Given the description of an element on the screen output the (x, y) to click on. 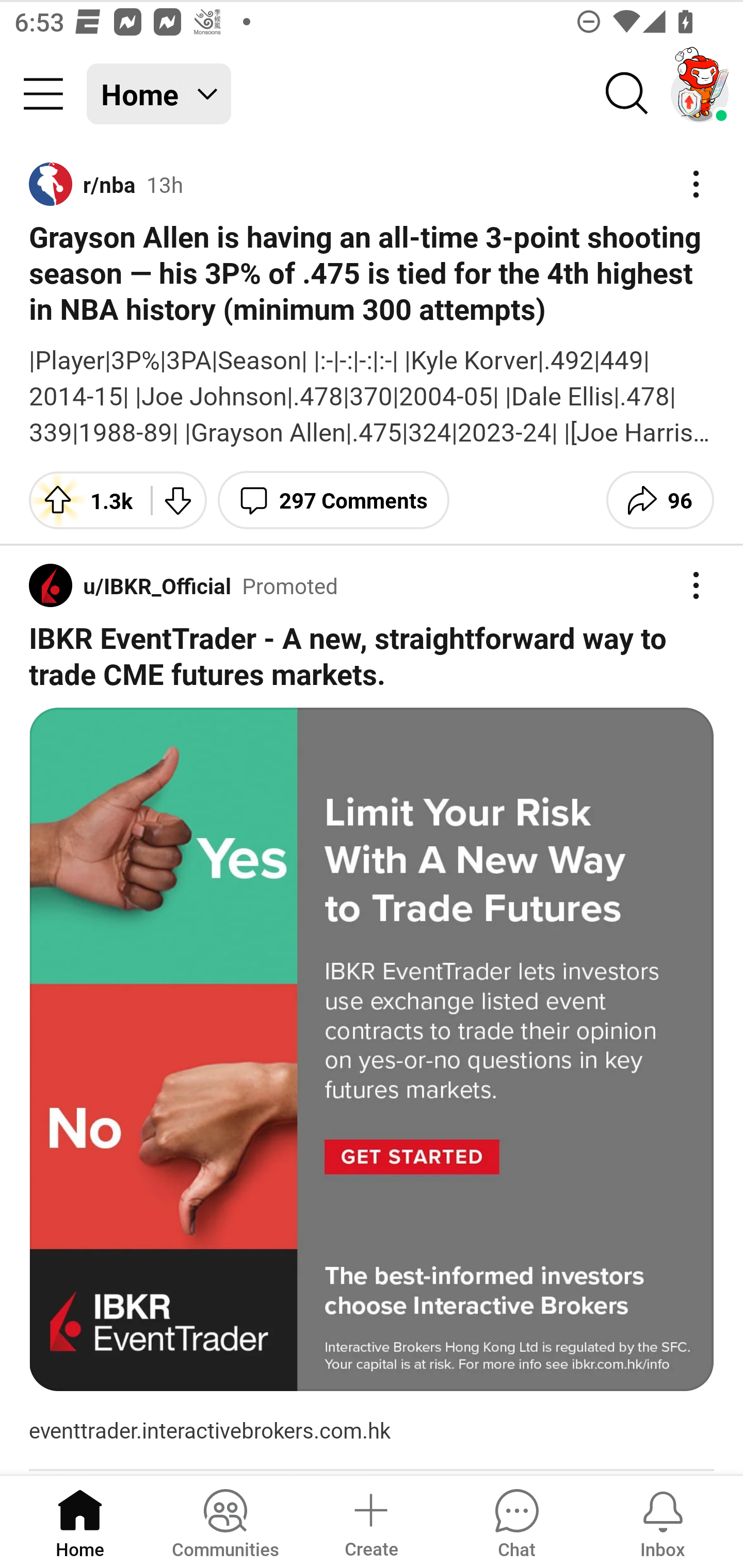
Community menu (43, 93)
Home Home feed (158, 93)
Search (626, 93)
TestAppium002 account (699, 93)
Home (80, 1520)
Communities (225, 1520)
Create a post Create (370, 1520)
Chat (516, 1520)
Inbox (662, 1520)
